Given the description of an element on the screen output the (x, y) to click on. 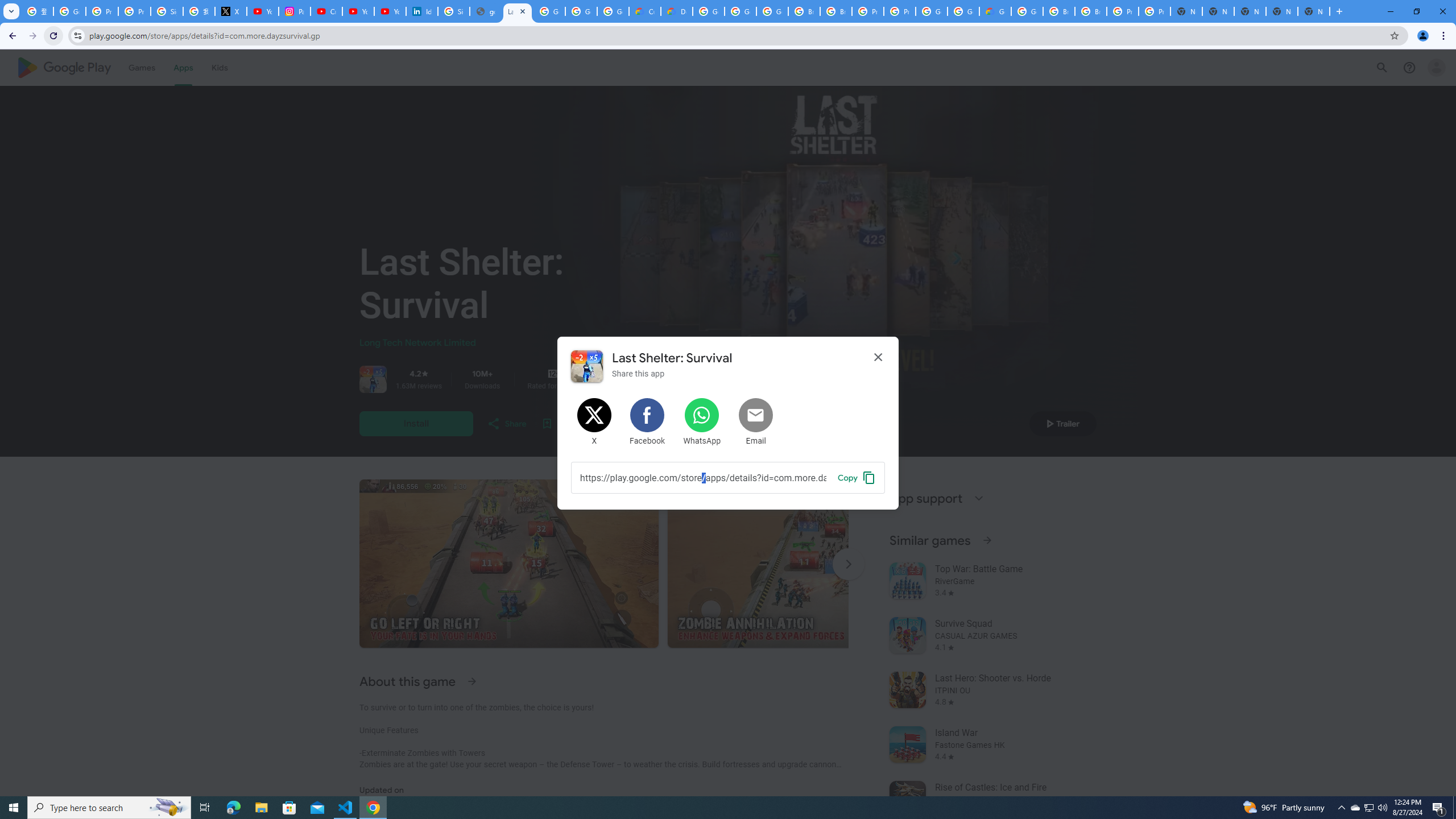
Share on X (formerly Twitter) (594, 421)
Google Cloud Platform (708, 11)
Google Cloud Platform (963, 11)
Browse Chrome as a guest - Computer - Google Chrome Help (836, 11)
Browse Chrome as a guest - Computer - Google Chrome Help (804, 11)
Google Workspace - Specific Terms (581, 11)
Copy link to clipboard (856, 477)
